Given the description of an element on the screen output the (x, y) to click on. 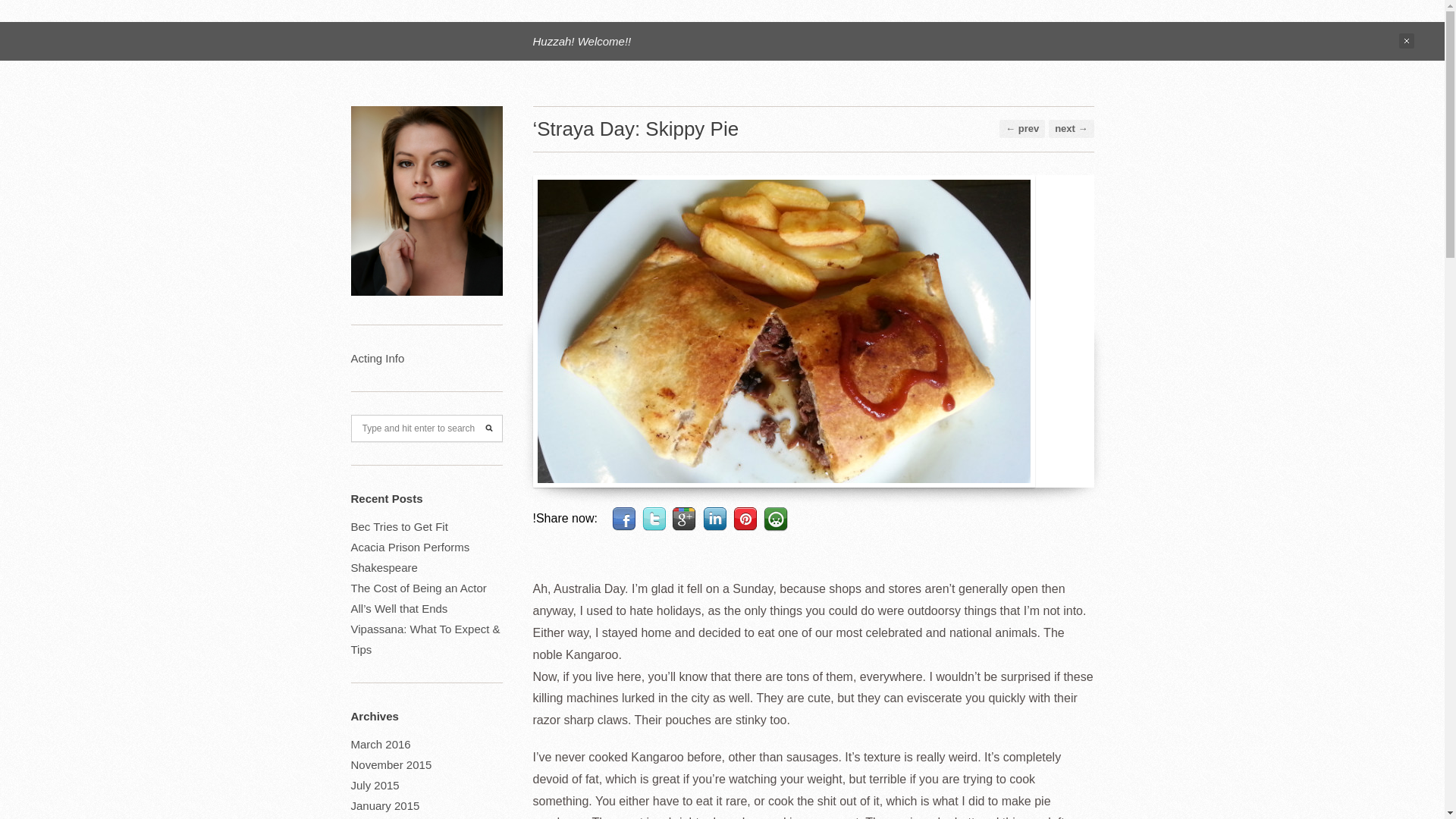
July 2015 (374, 784)
November 2015 (390, 764)
March 2016 (380, 744)
Acting Info (377, 358)
Share on Twitter (654, 518)
Type and hit enter to search (426, 428)
Share on Pinterest (745, 518)
!Share (775, 518)
Bec Tries to Get Fit (398, 526)
Share on Facebook (623, 518)
